Given the description of an element on the screen output the (x, y) to click on. 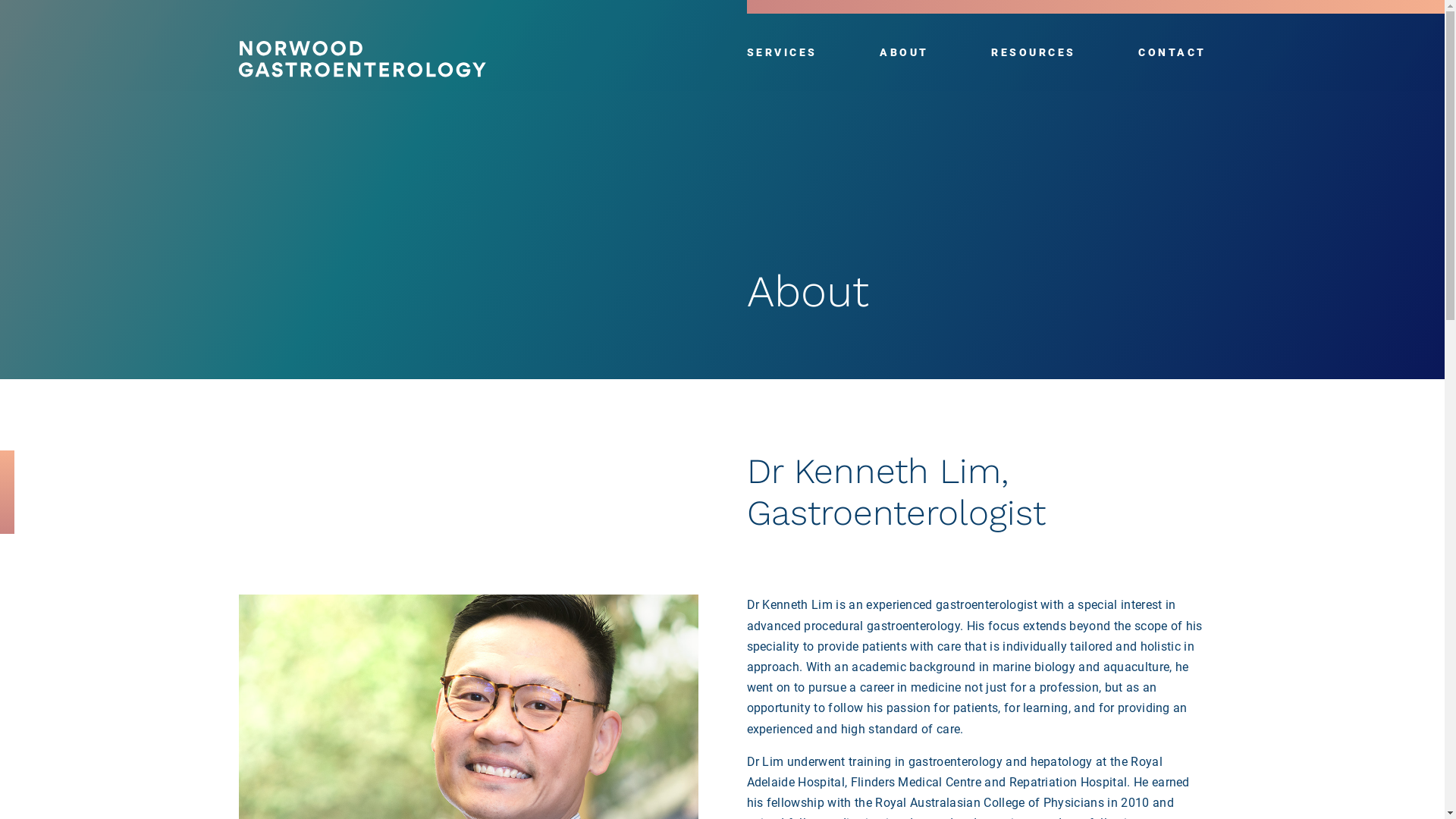
CONTACT Element type: text (1172, 51)
RESOURCES Element type: text (1033, 51)
SERVICES Element type: text (781, 51)
ABOUT Element type: text (904, 51)
